Given the description of an element on the screen output the (x, y) to click on. 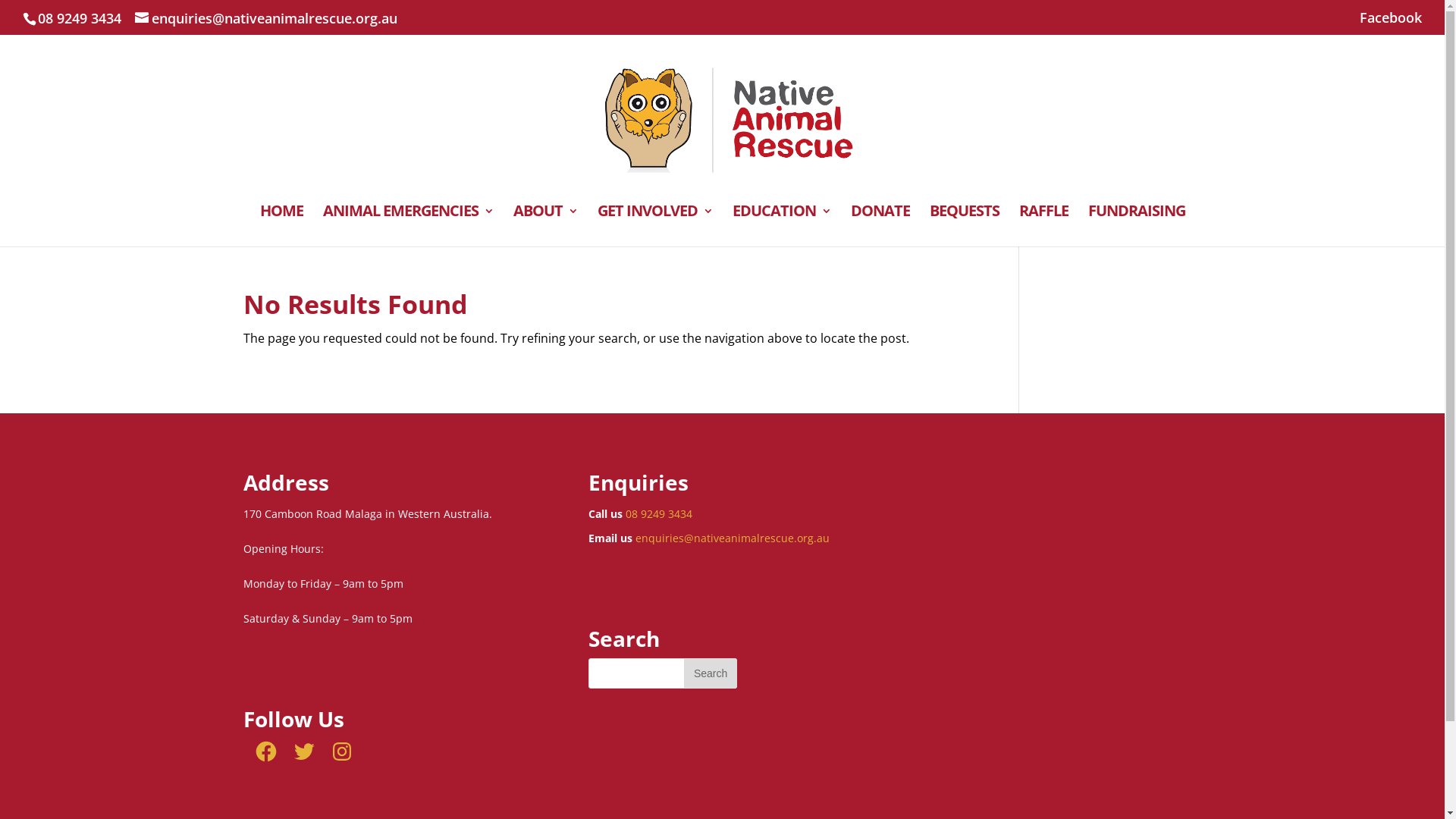
Instagram Element type: text (341, 751)
Search Element type: text (710, 673)
EDUCATION Element type: text (781, 225)
Twitter Element type: text (303, 751)
FUNDRAISING Element type: text (1135, 225)
DONATE Element type: text (880, 225)
RAFFLE Element type: text (1043, 225)
ABOUT Element type: text (544, 225)
enquiries@nativeanimalrescue.org.au Element type: text (265, 18)
08 9249 3434 Element type: text (658, 513)
enquiries@nativeanimalrescue.org.au Element type: text (732, 537)
08 9249 3434 Element type: text (79, 18)
HOME Element type: text (280, 225)
BEQUESTS Element type: text (964, 225)
GET INVOLVED Element type: text (654, 225)
Facebook Element type: text (265, 751)
ANIMAL EMERGENCIES Element type: text (408, 225)
Facebook Element type: text (1390, 22)
